Given the description of an element on the screen output the (x, y) to click on. 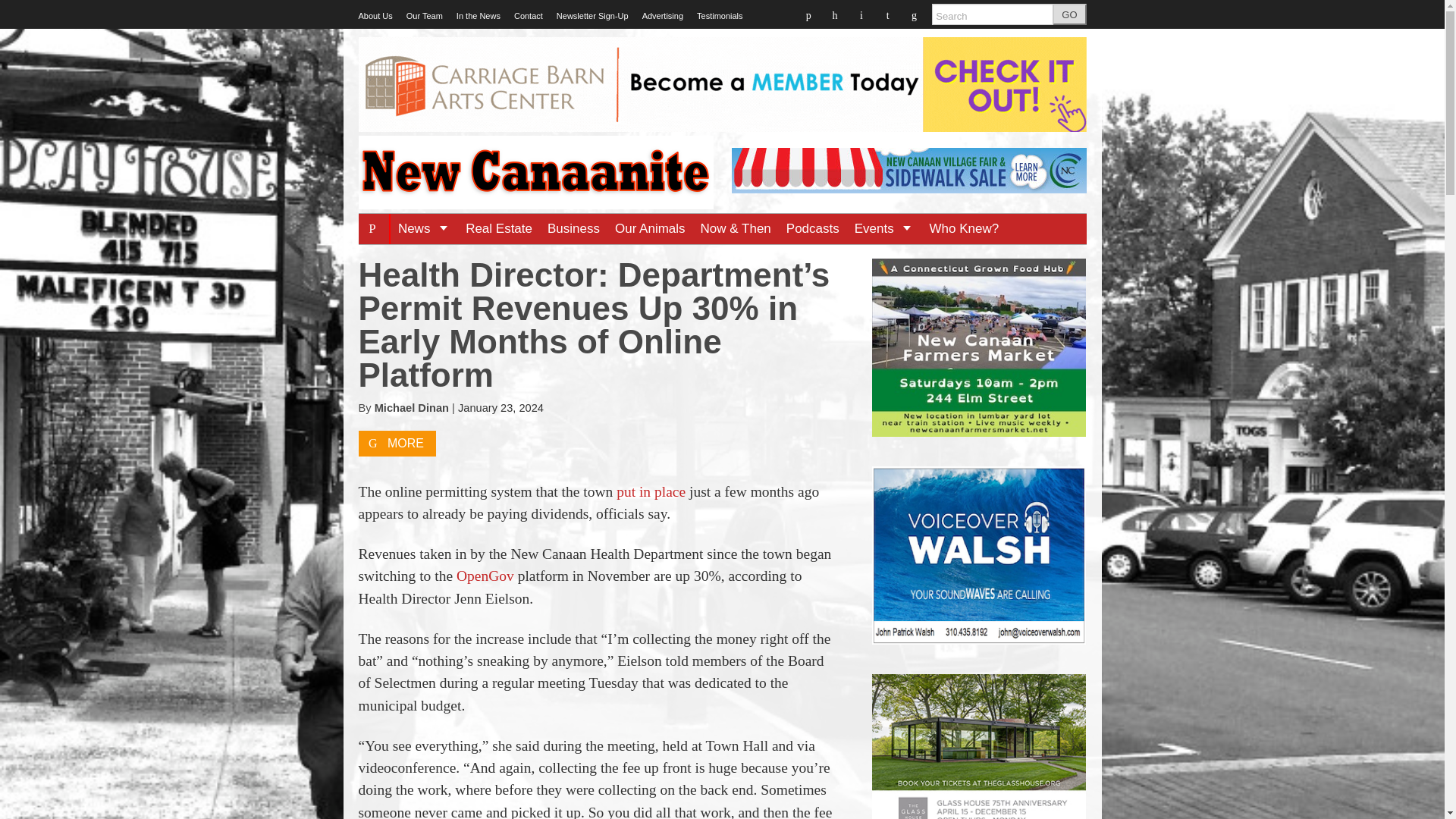
GO (1069, 14)
Our Team (424, 15)
About Us (374, 15)
Contact (528, 15)
Testimonials (719, 15)
In the News (478, 15)
Advertising (662, 15)
Newsletter Sign-Up (592, 15)
